Given the description of an element on the screen output the (x, y) to click on. 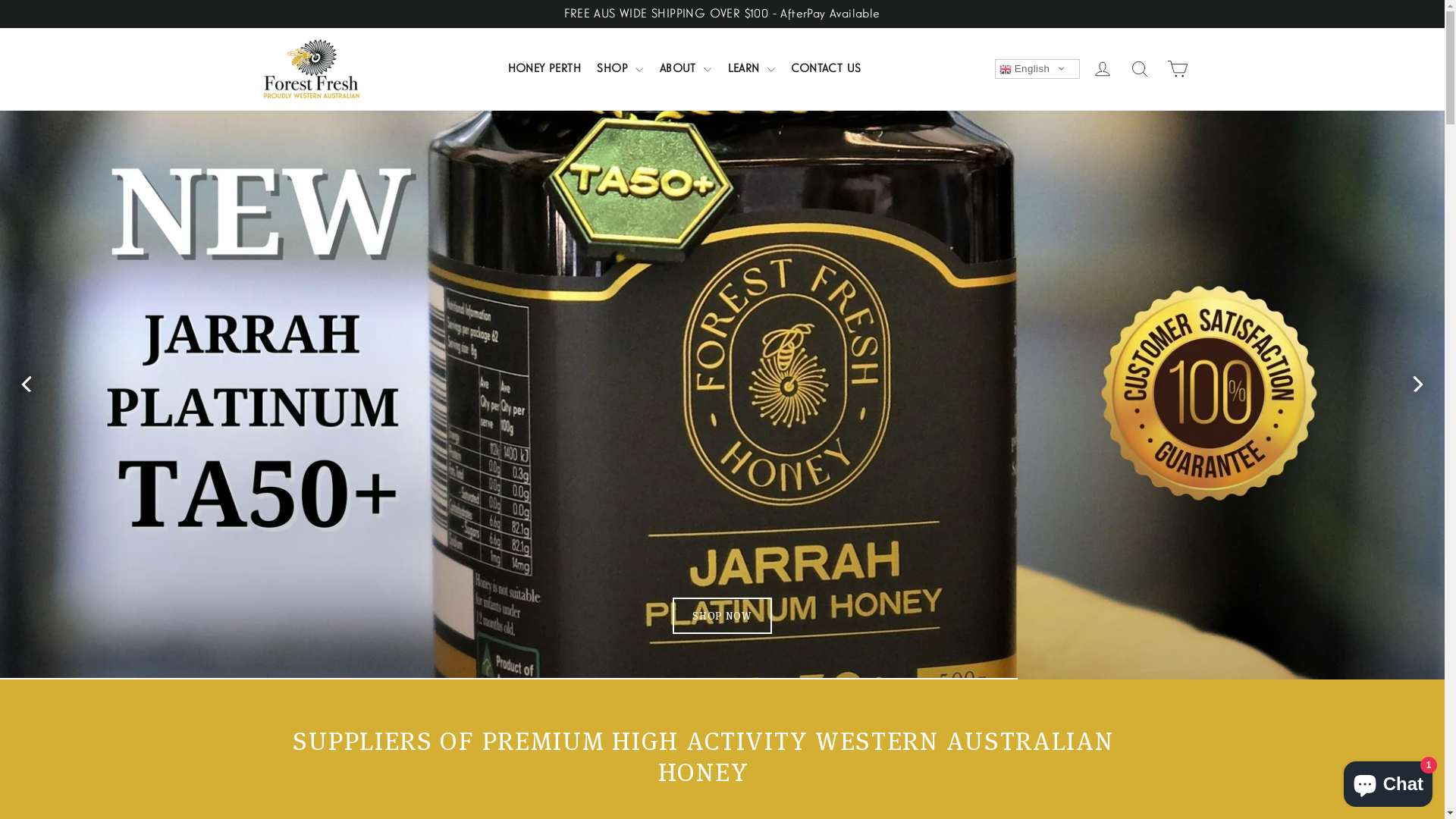
CONTACT US Element type: text (825, 68)
Skip to content Element type: text (0, 0)
Log in Element type: text (1102, 68)
SHOP NOW Element type: text (721, 461)
English Element type: text (1036, 68)
Previous Element type: text (26, 383)
Search Element type: text (1139, 68)
Shopify online store chat Element type: hover (1388, 780)
Next Element type: text (1416, 383)
LEARN Element type: text (751, 68)
SHOP Element type: text (619, 68)
Cart Element type: text (1176, 68)
HONEY PERTH Element type: text (544, 68)
ABOUT Element type: text (685, 68)
